Given the description of an element on the screen output the (x, y) to click on. 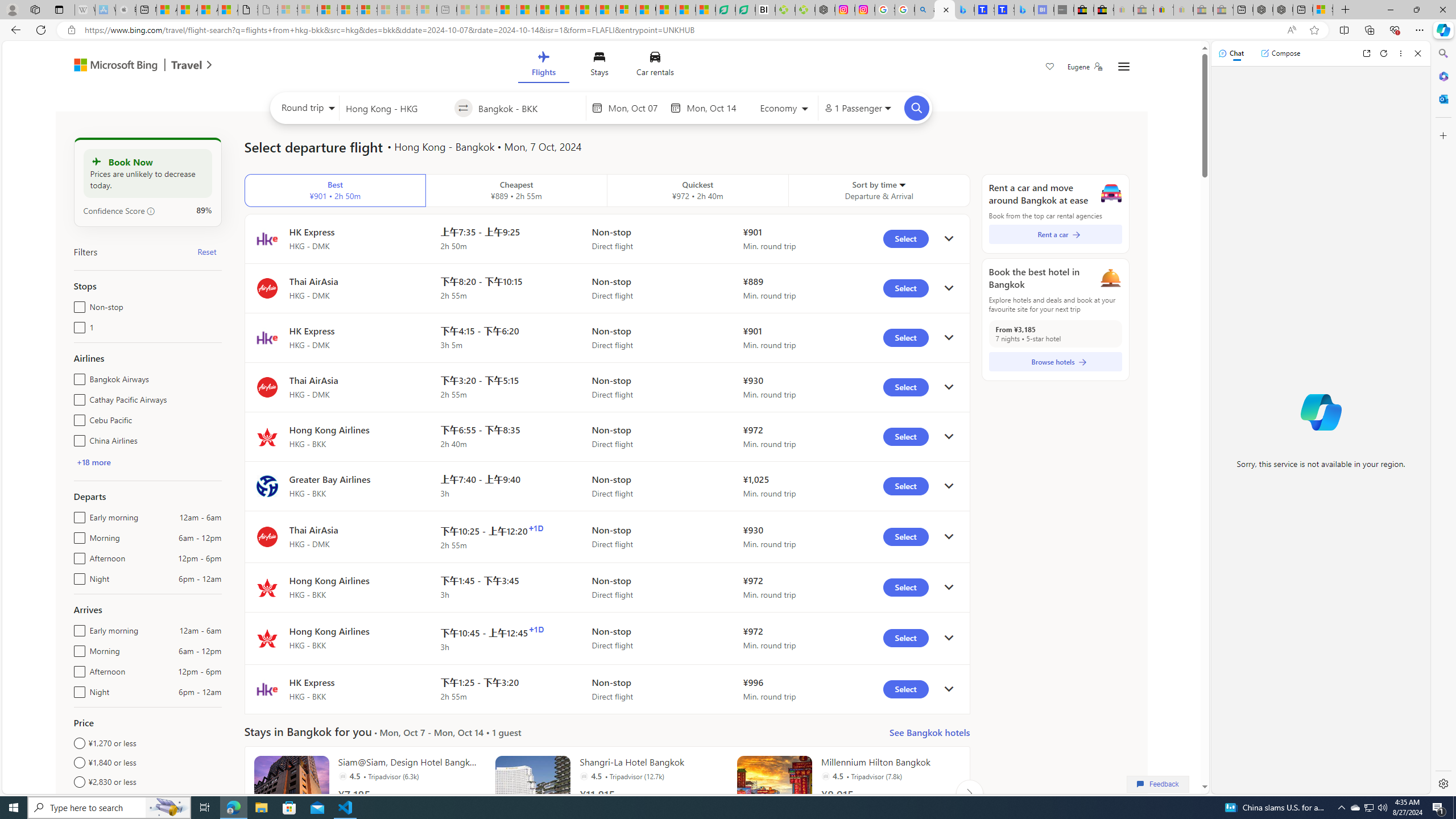
Microsoft Bing (110, 65)
Click to scroll right (968, 792)
Chat (1231, 52)
Microsoft Bing Travel - Flights from Hong Kong to Bangkok (944, 9)
Safety in Our Products - Google Safety Center (884, 9)
click to get details (948, 688)
Flights (542, 65)
Class: autosuggest-container full-height no-y-padding (528, 107)
